Given the description of an element on the screen output the (x, y) to click on. 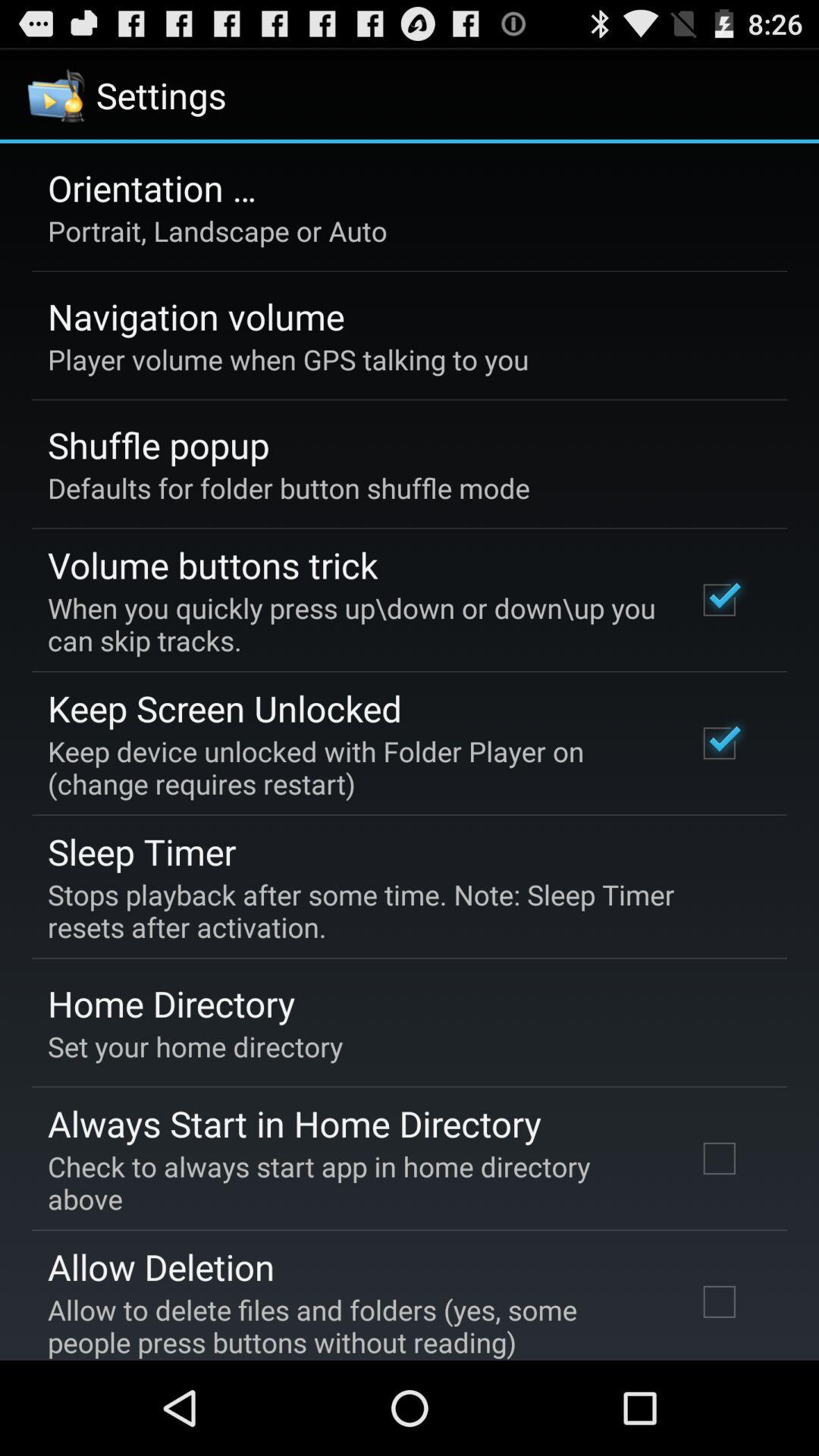
press app below sleep timer item (399, 910)
